Given the description of an element on the screen output the (x, y) to click on. 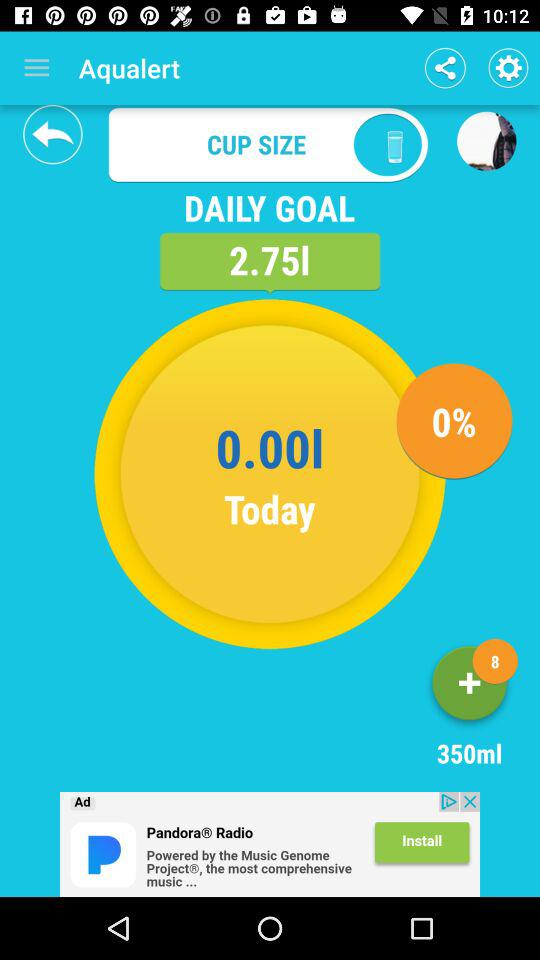
add 350ml to goal (469, 686)
